Given the description of an element on the screen output the (x, y) to click on. 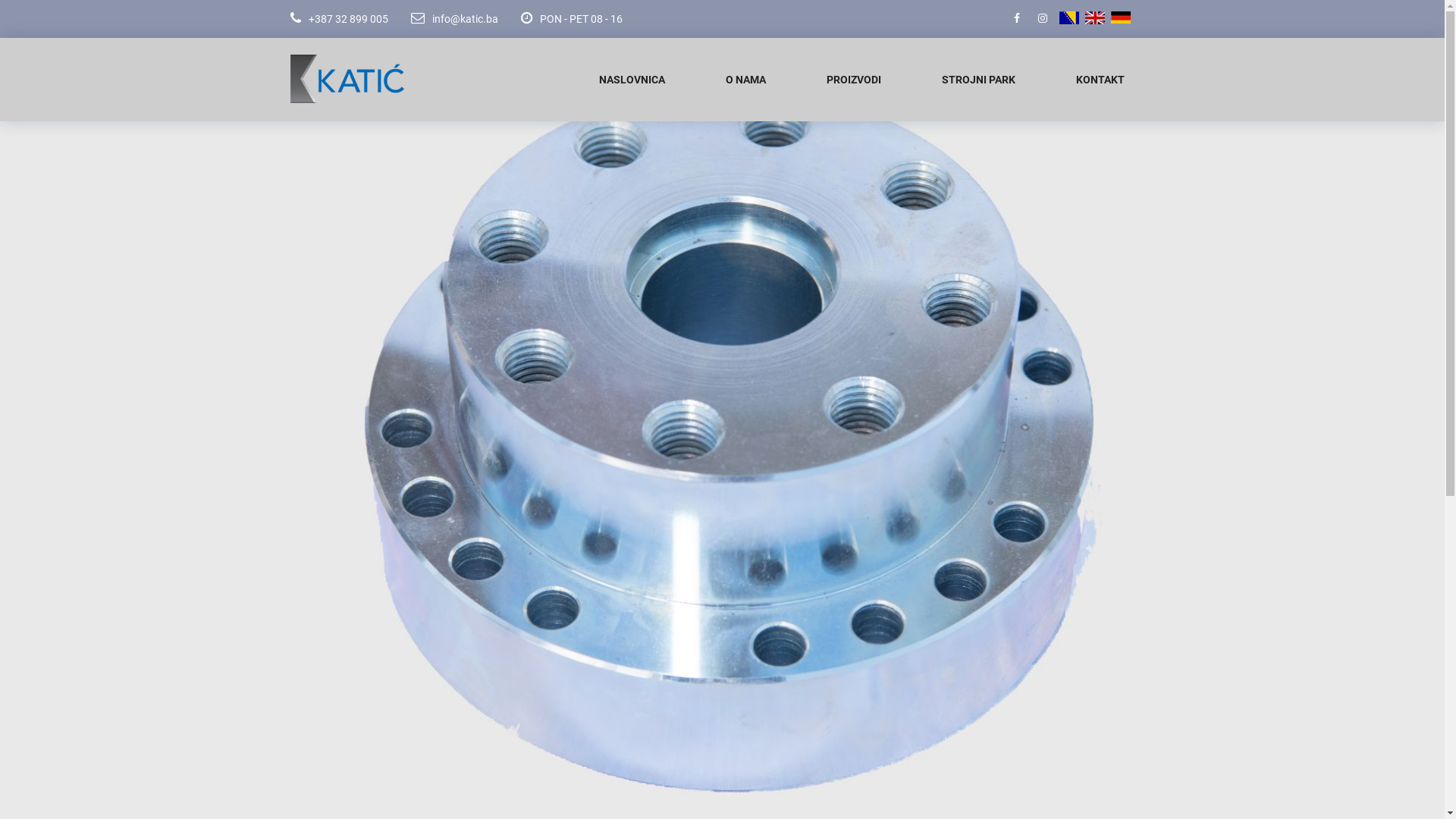
O NAMA Element type: text (744, 79)
STROJNI PARK Element type: text (978, 79)
KONTAKT Element type: text (1099, 79)
PROIZVODI Element type: text (853, 79)
NASLOVNICA Element type: text (631, 79)
PON - PET 08 - 16 Element type: text (559, 18)
info@katic.ba Element type: text (443, 18)
+387 32 899 005 Element type: text (338, 18)
